Given the description of an element on the screen output the (x, y) to click on. 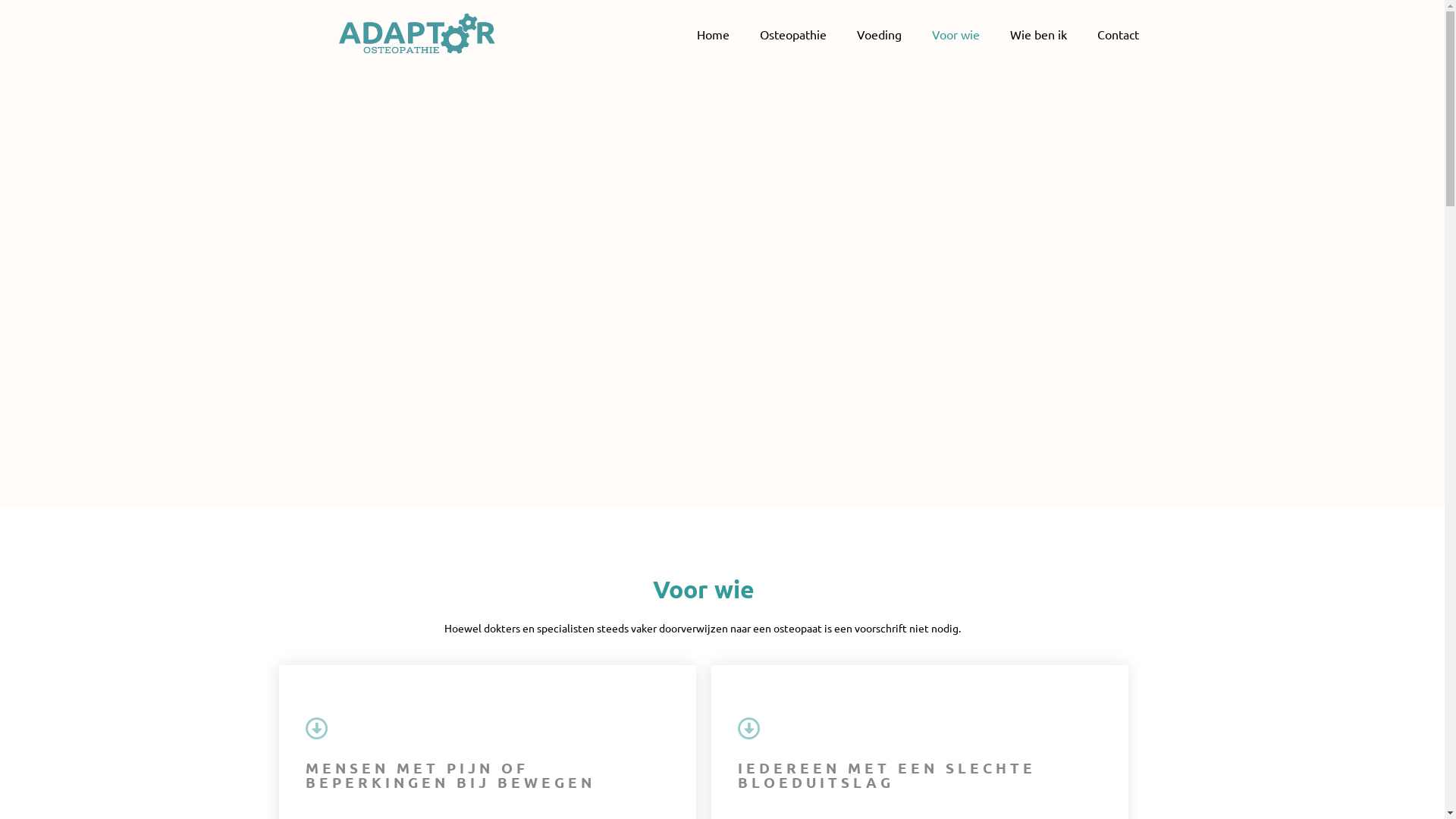
Wie ben ik Element type: text (1038, 34)
Voor wie Element type: text (955, 34)
Osteopathie Element type: text (792, 34)
Voeding Element type: text (878, 34)
Contact Element type: text (1118, 34)
Home Element type: text (712, 34)
